Given the description of an element on the screen output the (x, y) to click on. 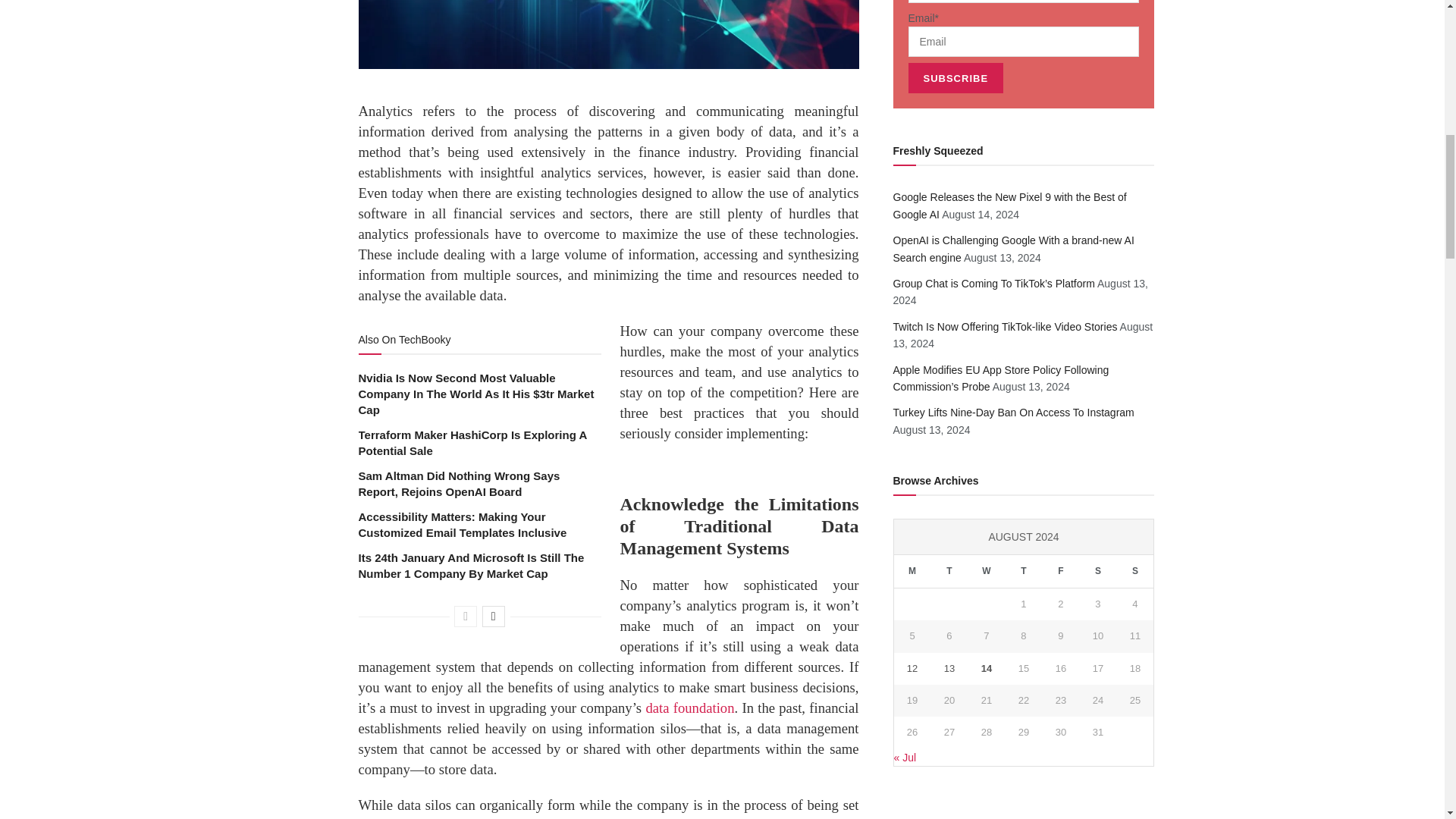
Subscribe (956, 78)
Previous (465, 616)
Next (493, 616)
Monday (911, 571)
Wednesday (986, 571)
Tuesday (949, 571)
